Given the description of an element on the screen output the (x, y) to click on. 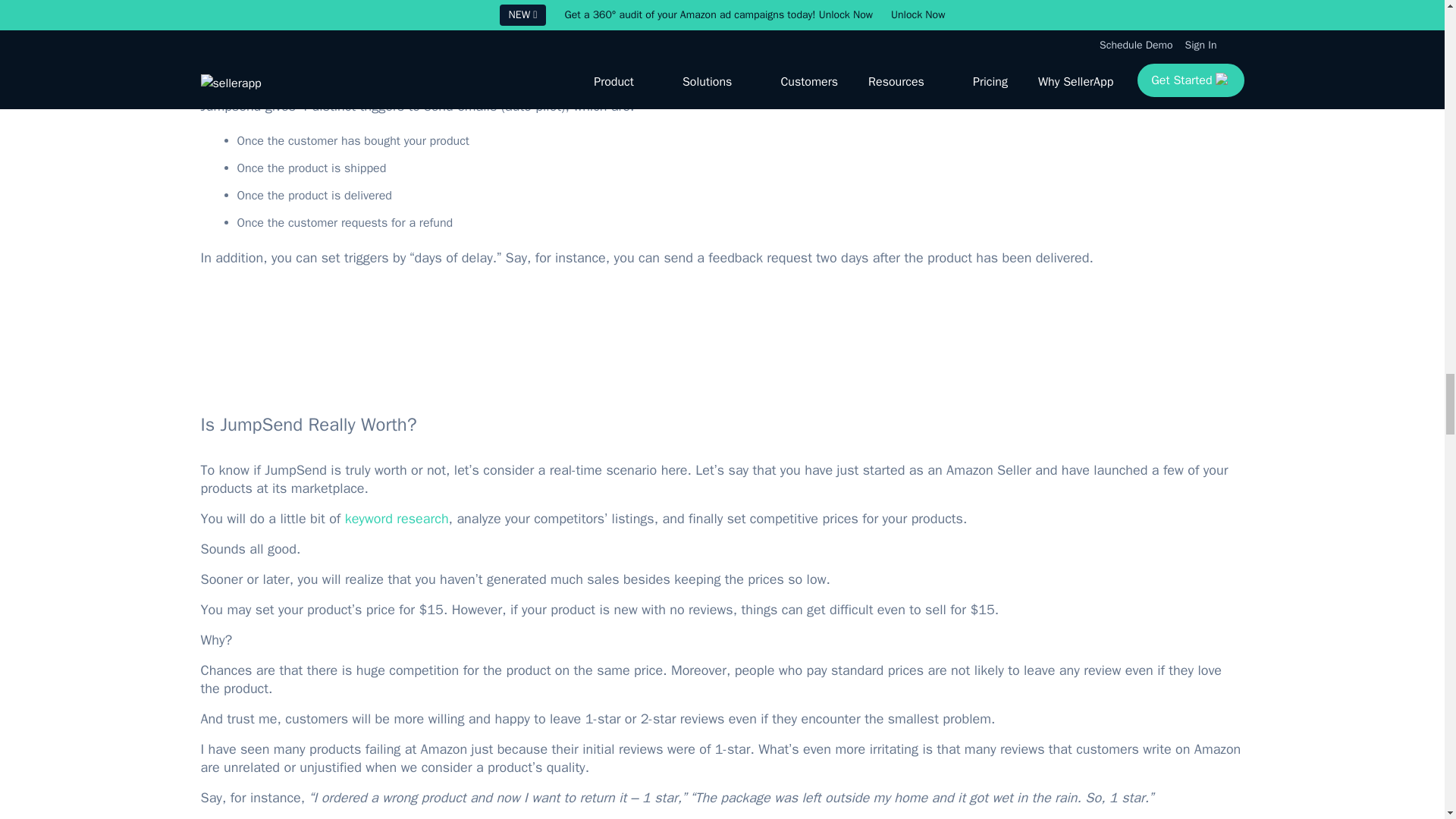
keyword research (396, 518)
